Given the description of an element on the screen output the (x, y) to click on. 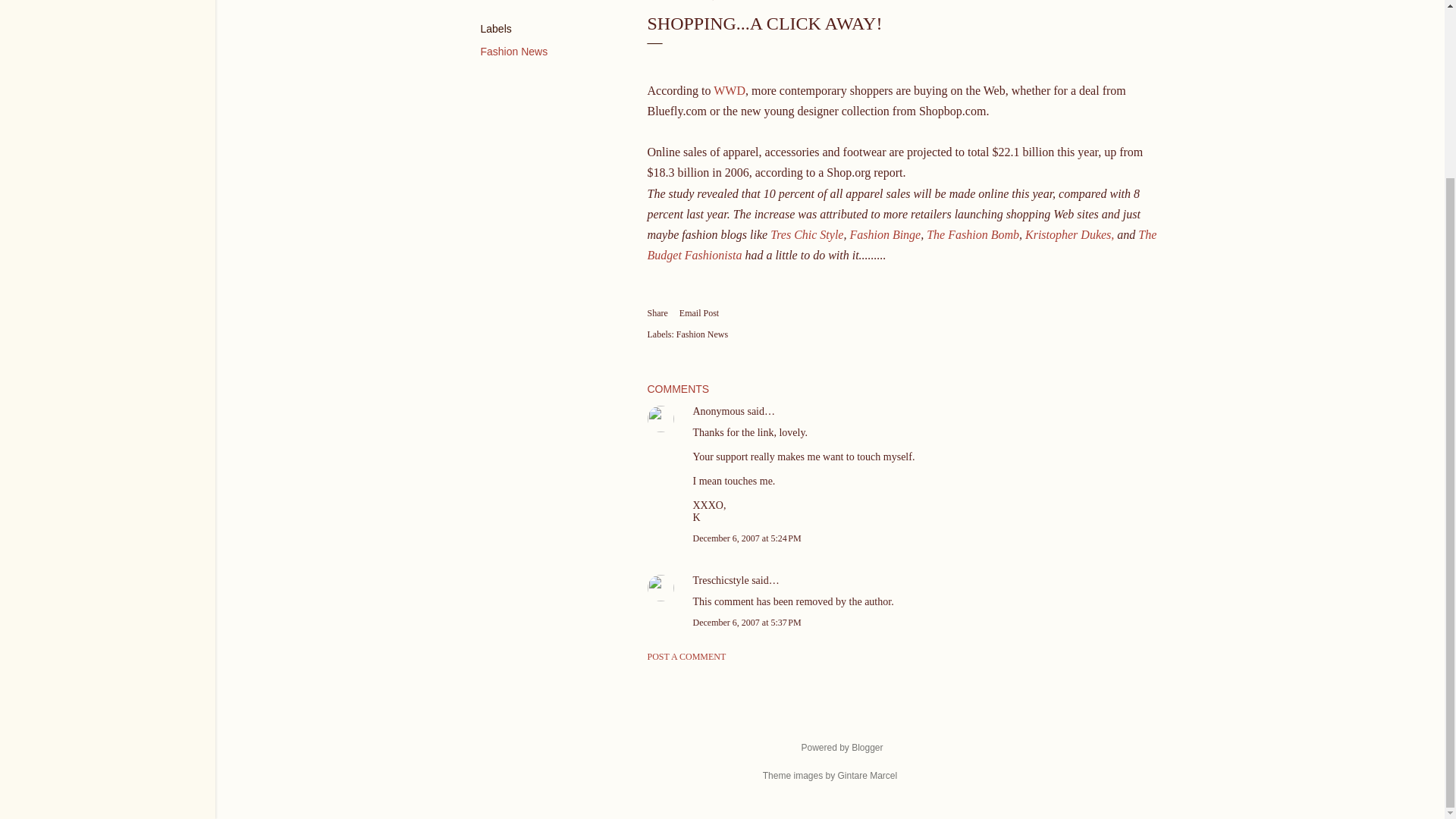
Gintare Marcel (866, 775)
Share (657, 313)
Tres Chic Style (806, 234)
Fashion News (514, 51)
WWD (729, 90)
Kristopher Dukes, (1070, 234)
Treschicstyle (721, 580)
comment permalink (747, 538)
